Given the description of an element on the screen output the (x, y) to click on. 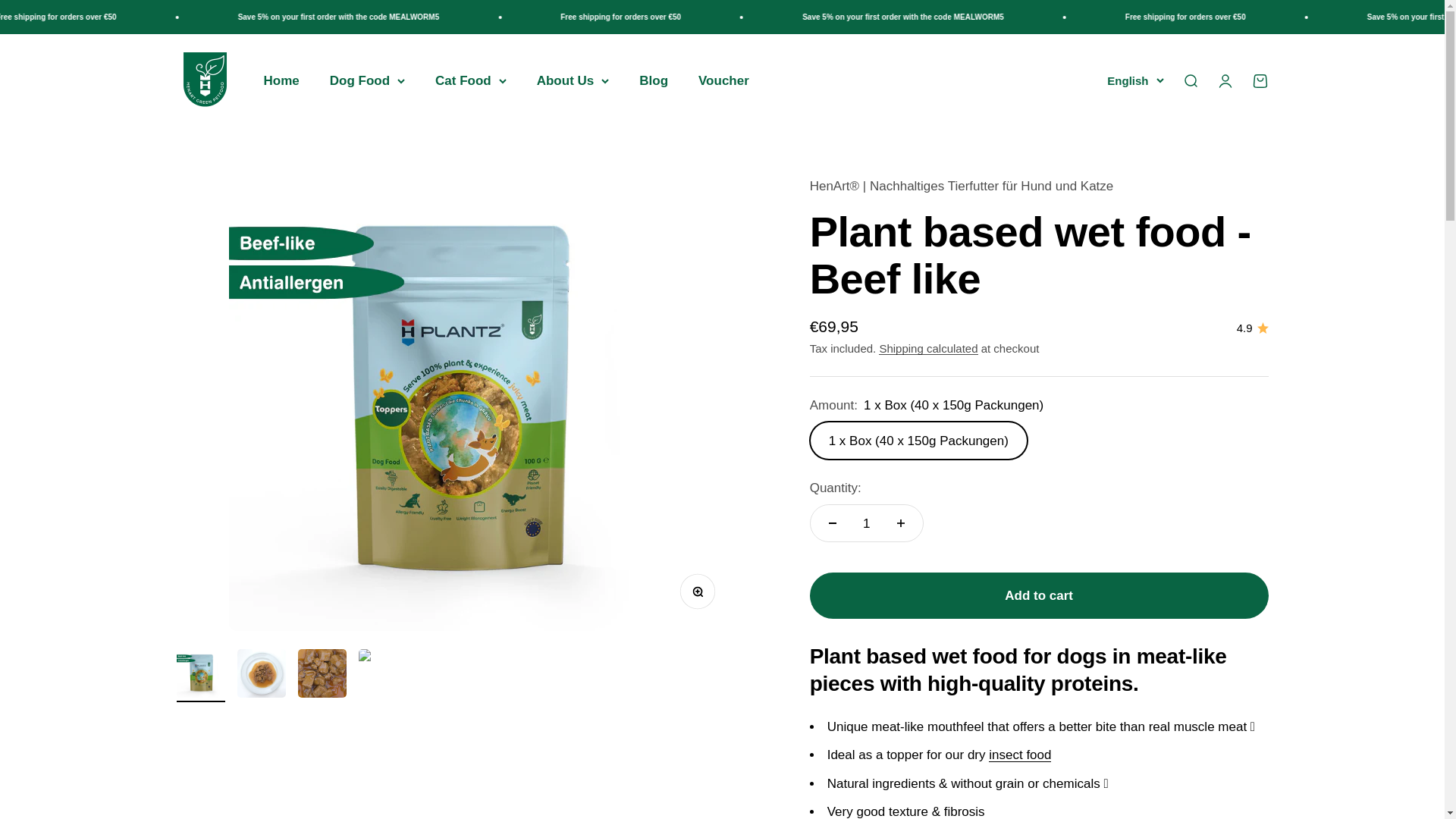
Open account page (1224, 80)
Voucher (723, 80)
Blog (653, 80)
13 reviews (1252, 328)
Open search (1189, 80)
Home (1259, 80)
English (281, 80)
